Given the description of an element on the screen output the (x, y) to click on. 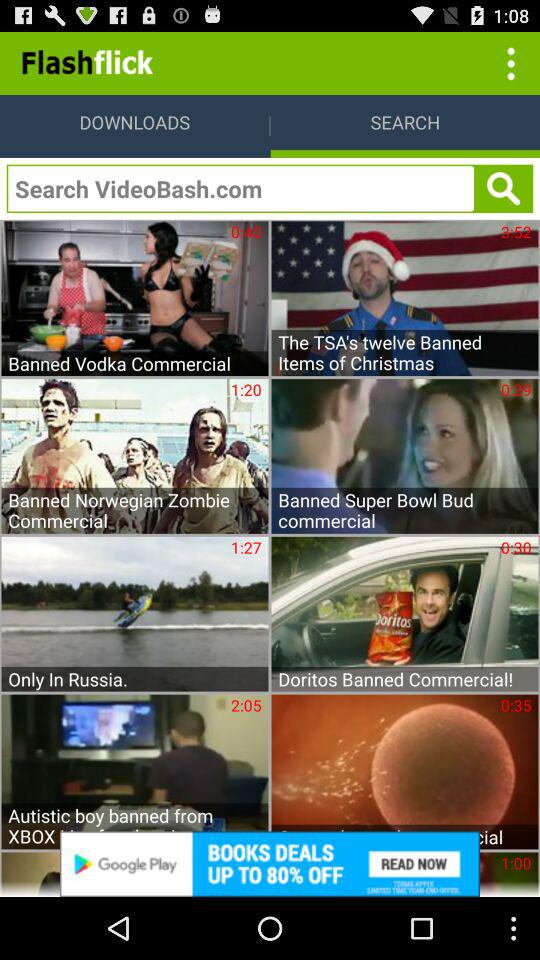
to go storage (508, 62)
